Given the description of an element on the screen output the (x, y) to click on. 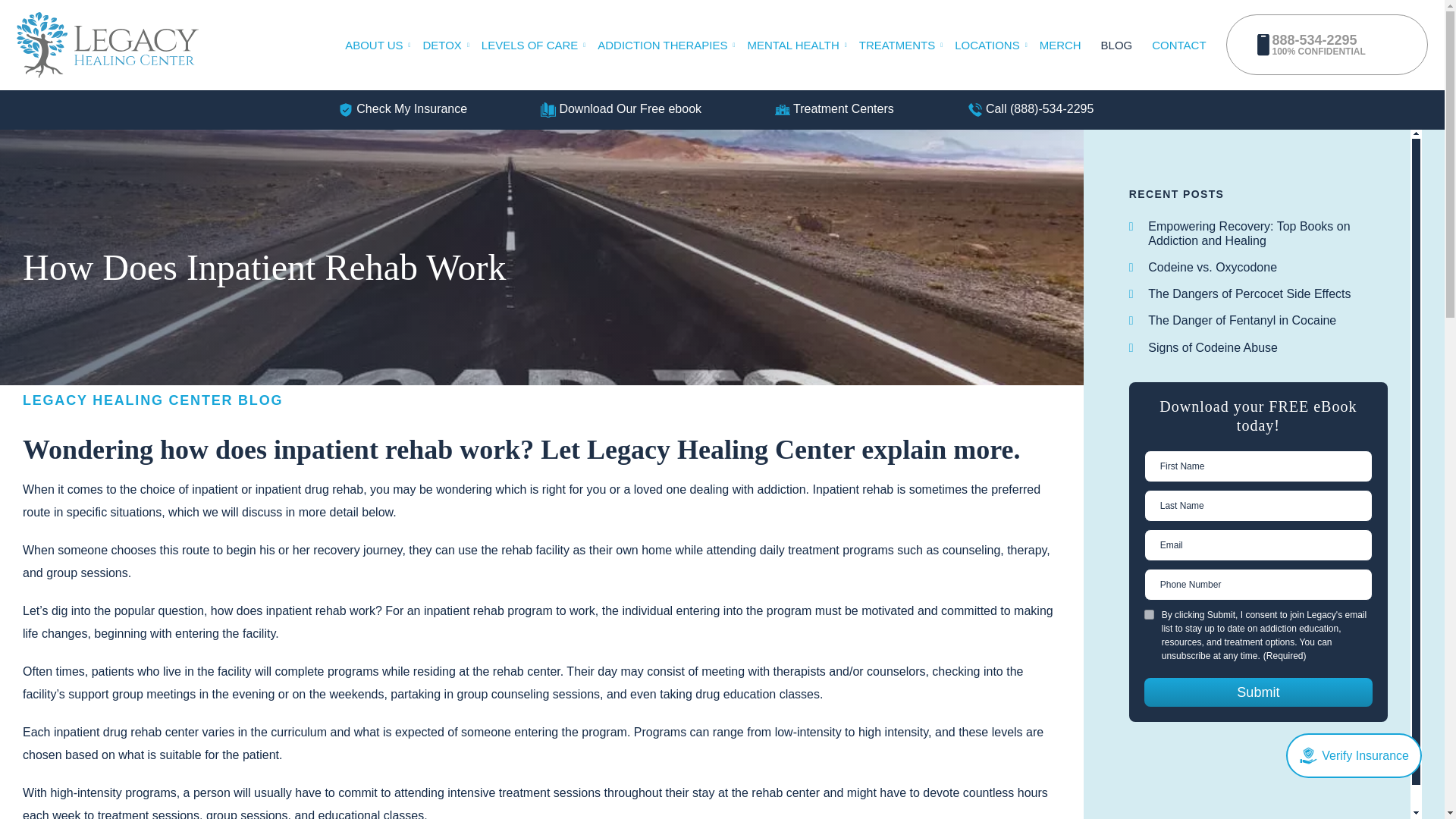
LEVELS OF CARE (538, 45)
1 (1149, 614)
ADDICTION THERAPIES (671, 45)
Legacy Healing (107, 44)
